Given the description of an element on the screen output the (x, y) to click on. 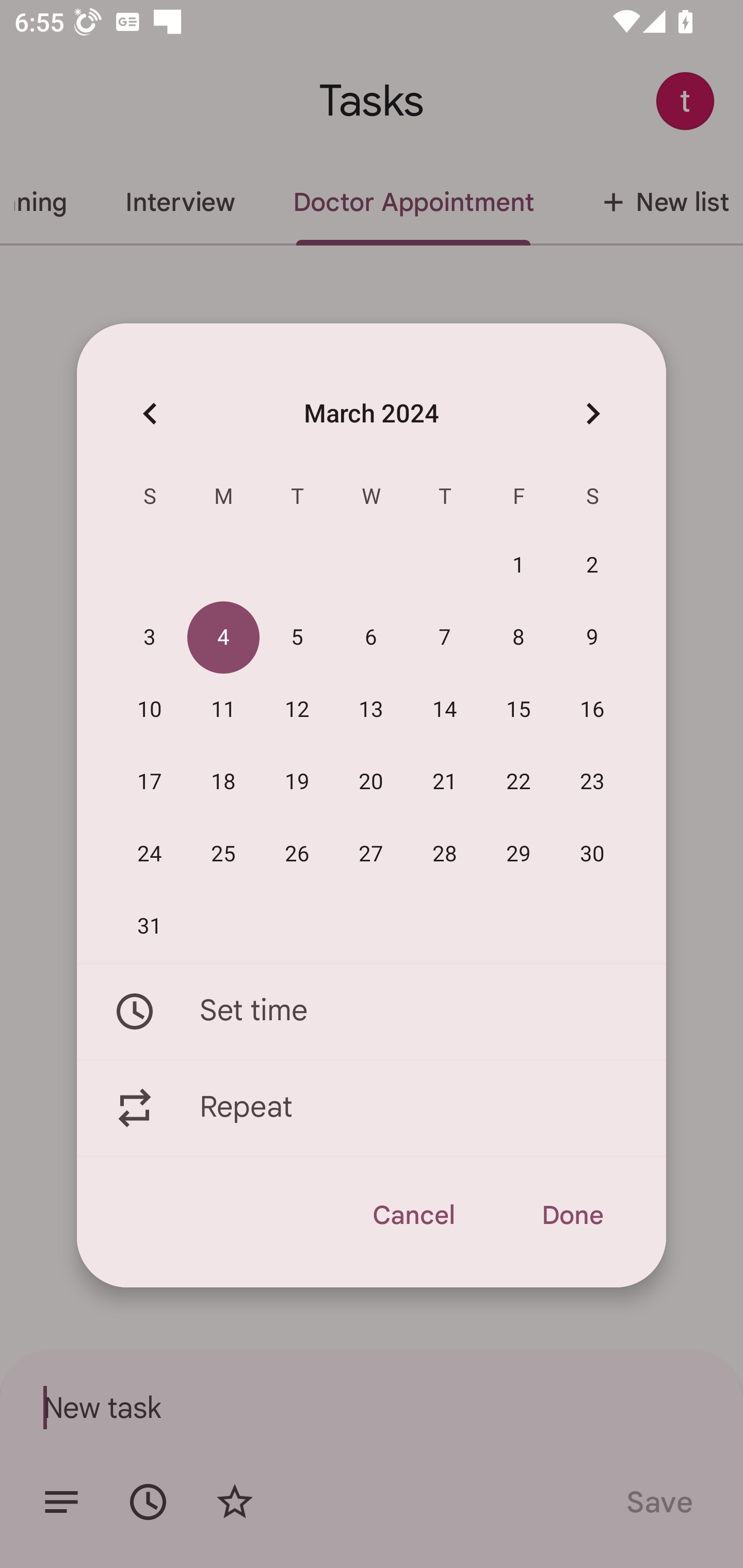
Previous month (149, 413)
Next month (592, 413)
1 01 March 2024 (518, 565)
2 02 March 2024 (592, 565)
3 03 March 2024 (149, 638)
4 04 March 2024 (223, 638)
5 05 March 2024 (297, 638)
6 06 March 2024 (370, 638)
7 07 March 2024 (444, 638)
8 08 March 2024 (518, 638)
9 09 March 2024 (592, 638)
10 10 March 2024 (149, 710)
11 11 March 2024 (223, 710)
12 12 March 2024 (297, 710)
13 13 March 2024 (370, 710)
14 14 March 2024 (444, 710)
15 15 March 2024 (518, 710)
16 16 March 2024 (592, 710)
17 17 March 2024 (149, 782)
18 18 March 2024 (223, 782)
19 19 March 2024 (297, 782)
20 20 March 2024 (370, 782)
21 21 March 2024 (444, 782)
22 22 March 2024 (518, 782)
23 23 March 2024 (592, 782)
24 24 March 2024 (149, 854)
25 25 March 2024 (223, 854)
26 26 March 2024 (297, 854)
27 27 March 2024 (370, 854)
28 28 March 2024 (444, 854)
29 29 March 2024 (518, 854)
30 30 March 2024 (592, 854)
31 31 March 2024 (149, 926)
Set time (371, 1011)
Repeat (371, 1108)
Cancel (412, 1215)
Done (571, 1215)
